Given the description of an element on the screen output the (x, y) to click on. 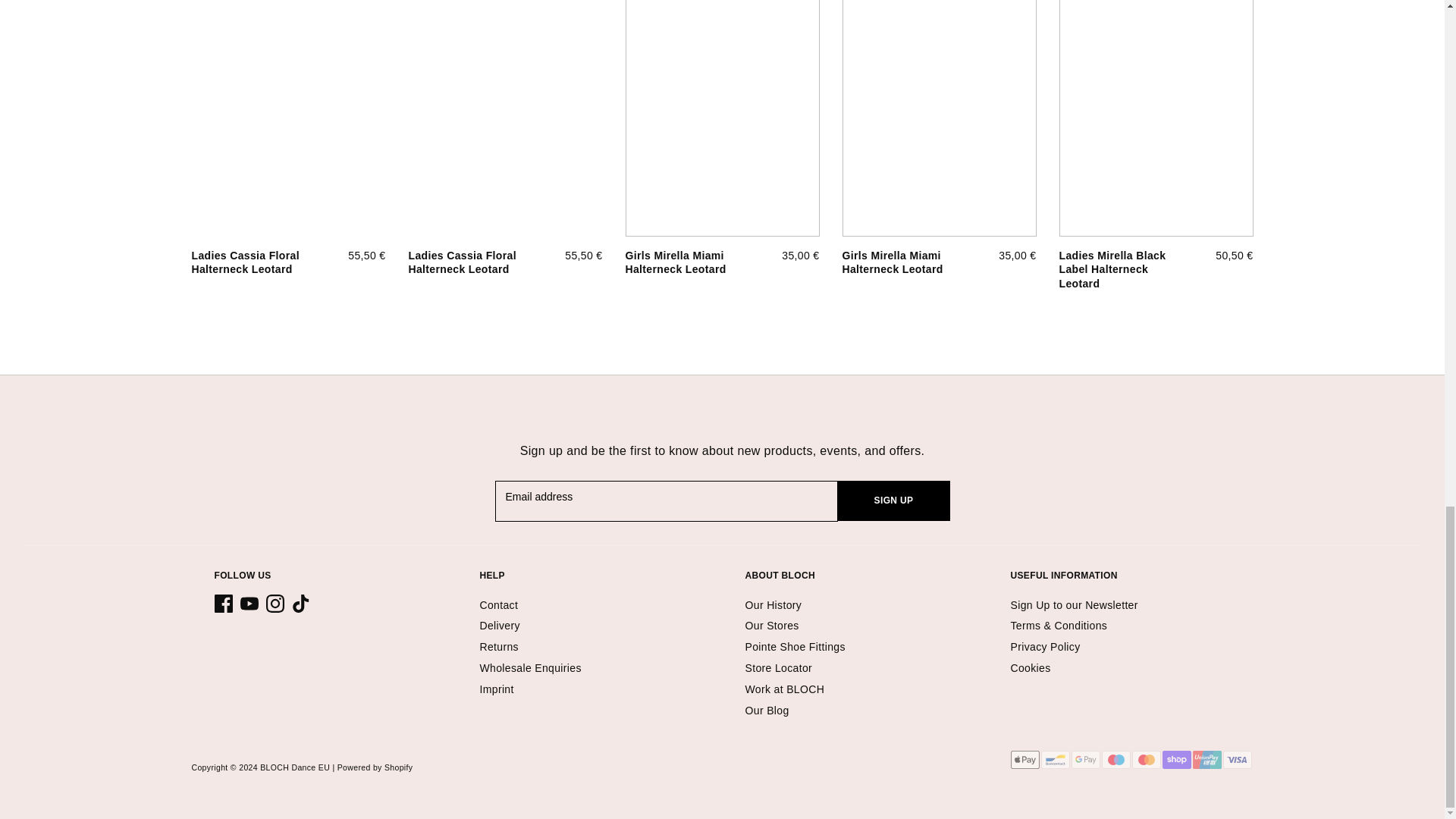
Union Pay (1206, 760)
Maestro (1114, 760)
Shop Pay (1176, 760)
Apple Pay (1024, 760)
Bancontact (1054, 760)
Mastercard (1145, 760)
Visa (1236, 760)
Google Pay (1084, 760)
